Given the description of an element on the screen output the (x, y) to click on. 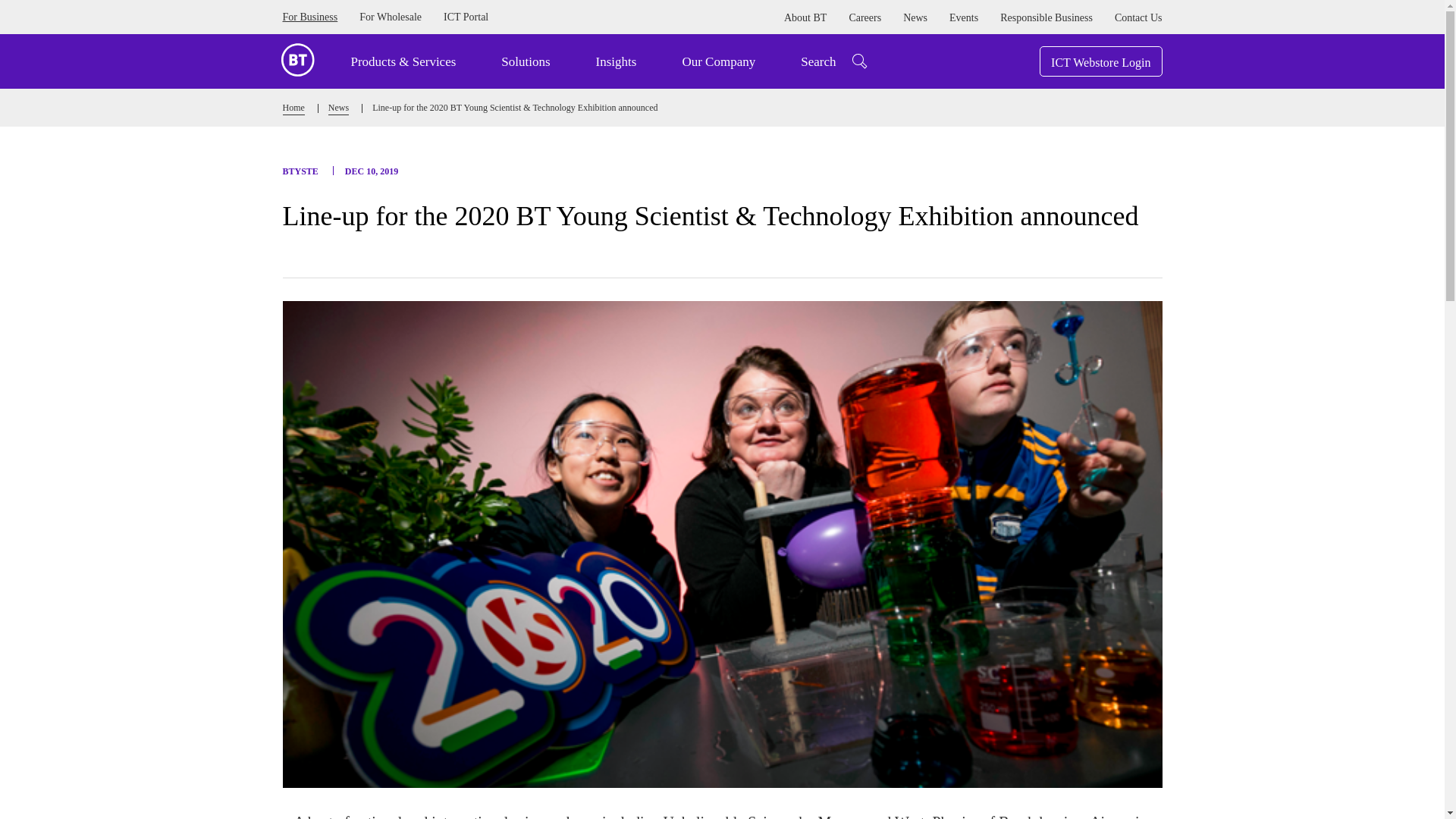
ICT Portal (465, 16)
For Wholesale (390, 16)
Contact Us (1138, 17)
Responsible Business (1046, 17)
Our Company (718, 61)
Home (293, 108)
ICT Webstore Login (1100, 60)
About BT (805, 17)
BT Ireland (297, 58)
Careers (864, 17)
